Given the description of an element on the screen output the (x, y) to click on. 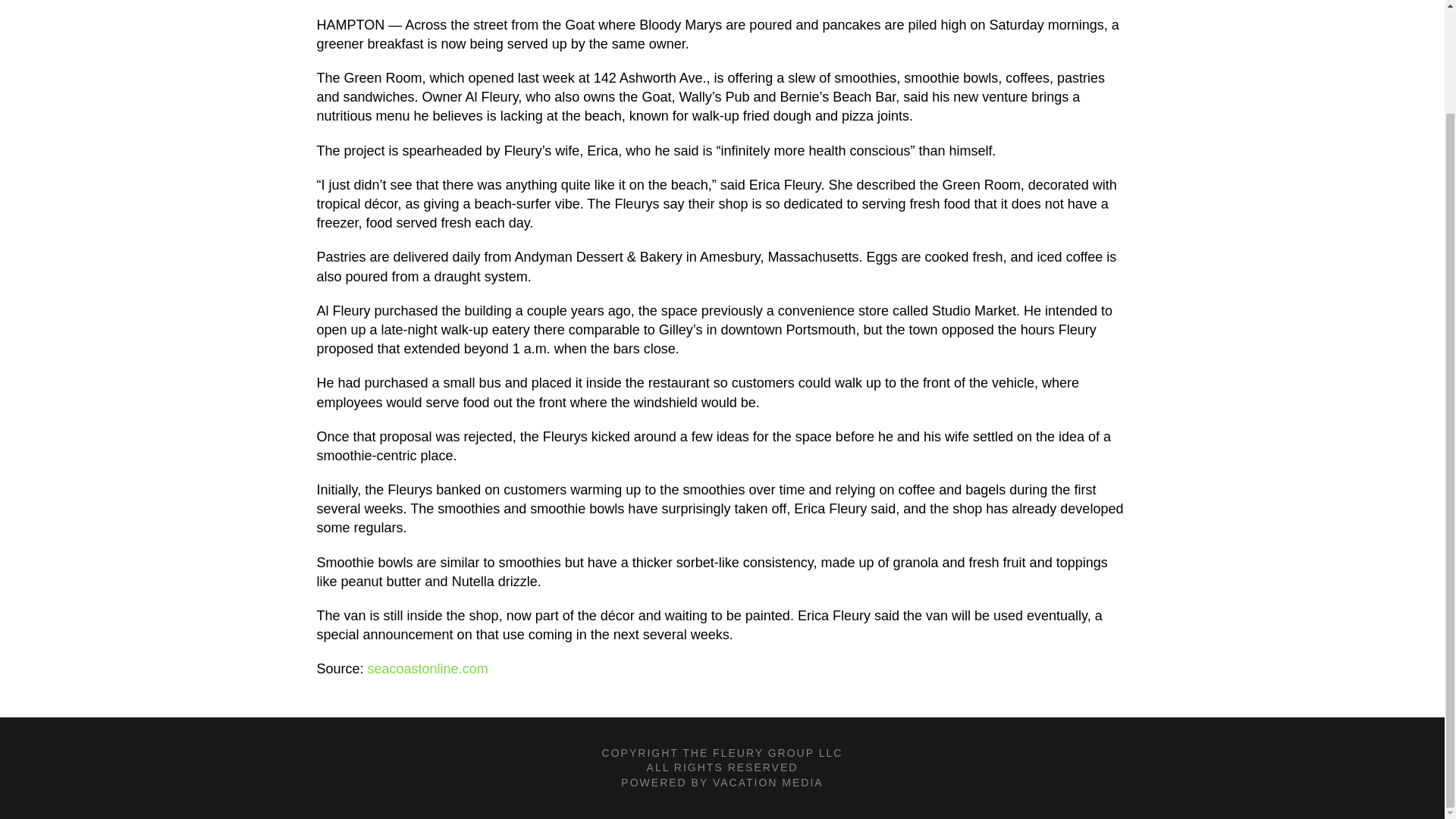
seacoastonline.com (427, 668)
VACATION MEDIA (768, 782)
